Given the description of an element on the screen output the (x, y) to click on. 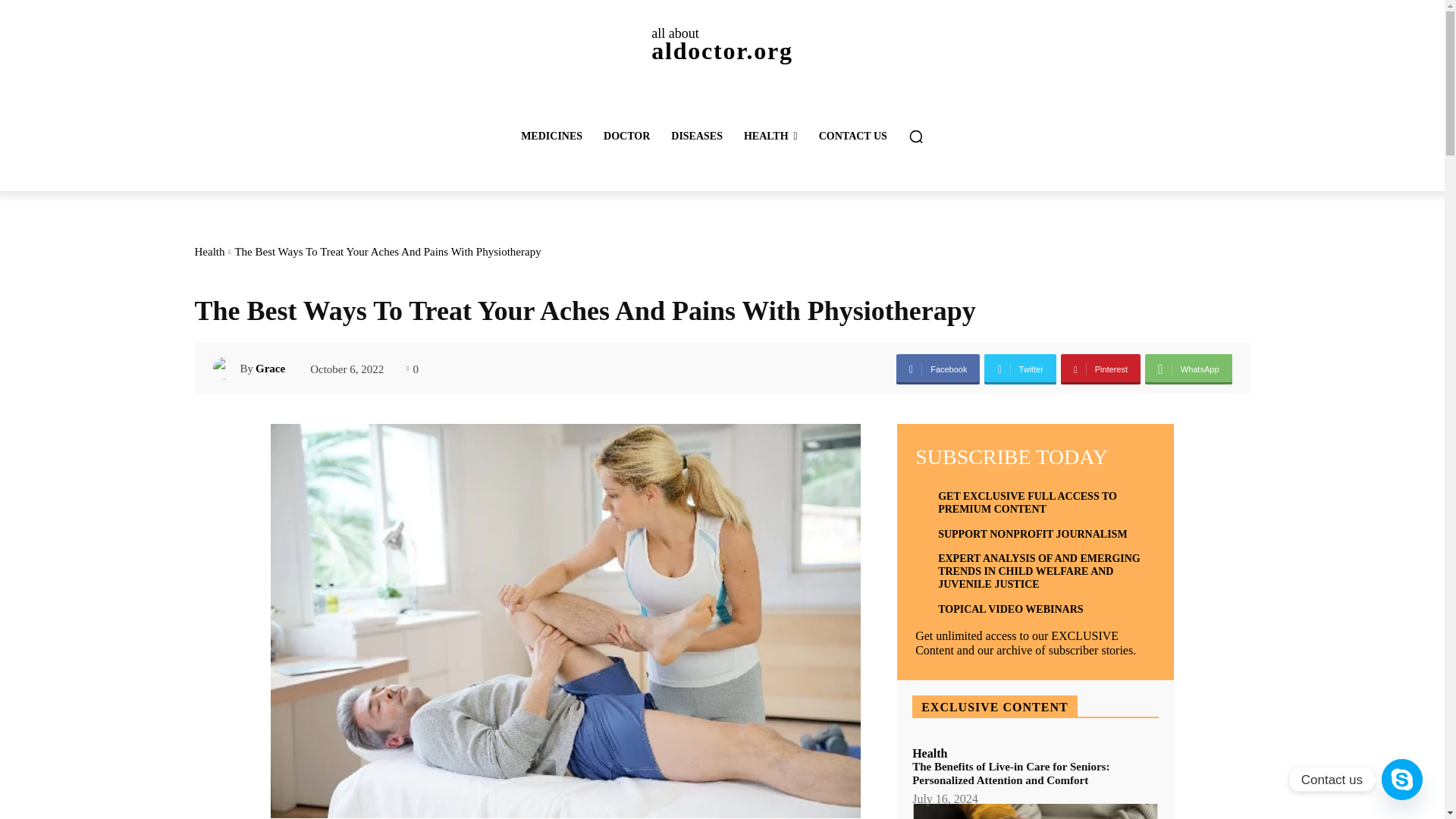
Evernote (721, 44)
Twitter (770, 135)
Grace (1020, 368)
DISEASES (226, 368)
CONTACT US (697, 135)
WhatsApp (853, 135)
MEDICINES (1187, 368)
View all posts in Health (551, 135)
Facebook (208, 251)
Behance (937, 368)
